Given the description of an element on the screen output the (x, y) to click on. 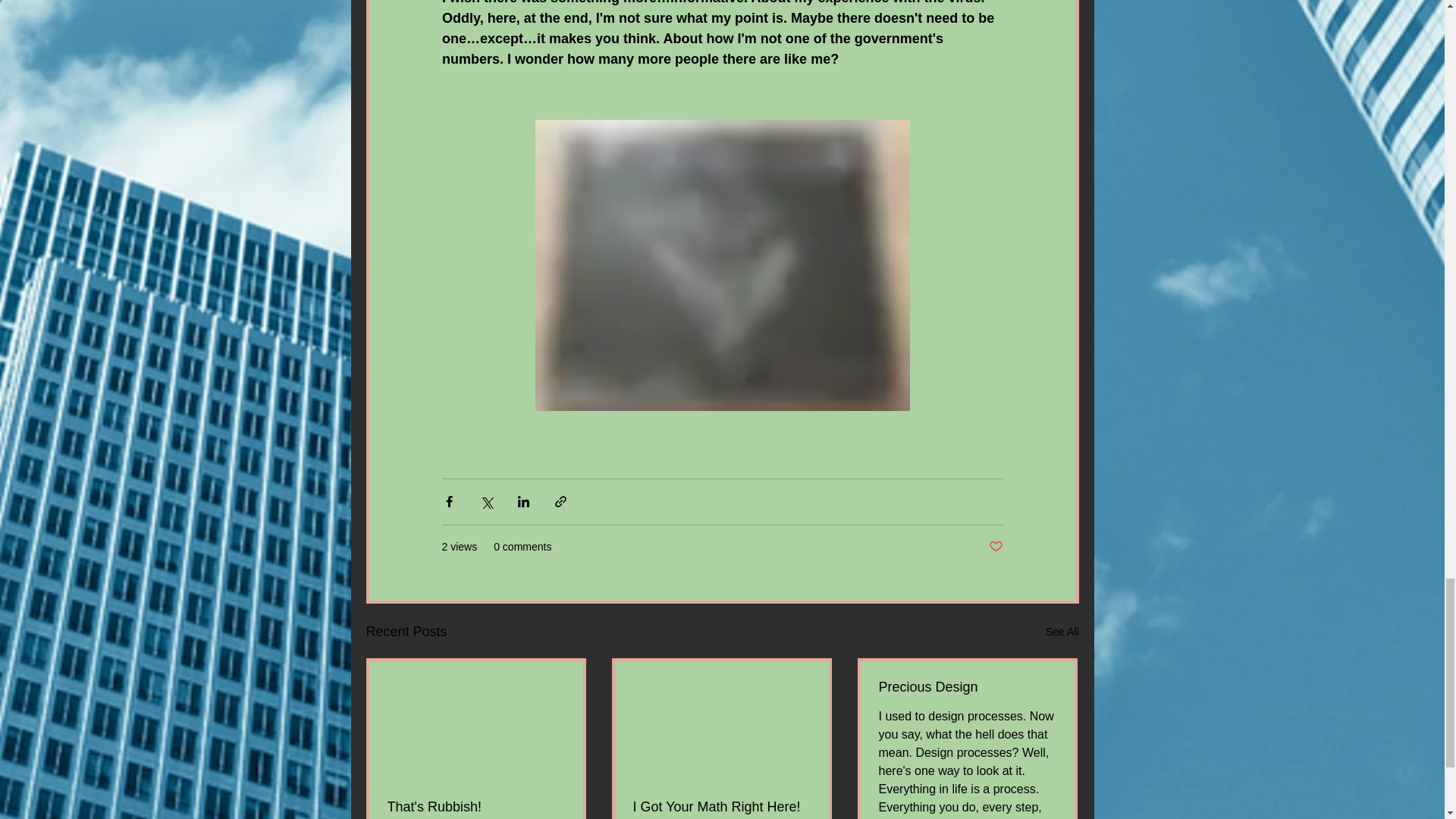
Post not marked as liked (995, 546)
I Got Your Math Right Here! (720, 806)
That's Rubbish! (475, 806)
See All (1061, 631)
